Given the description of an element on the screen output the (x, y) to click on. 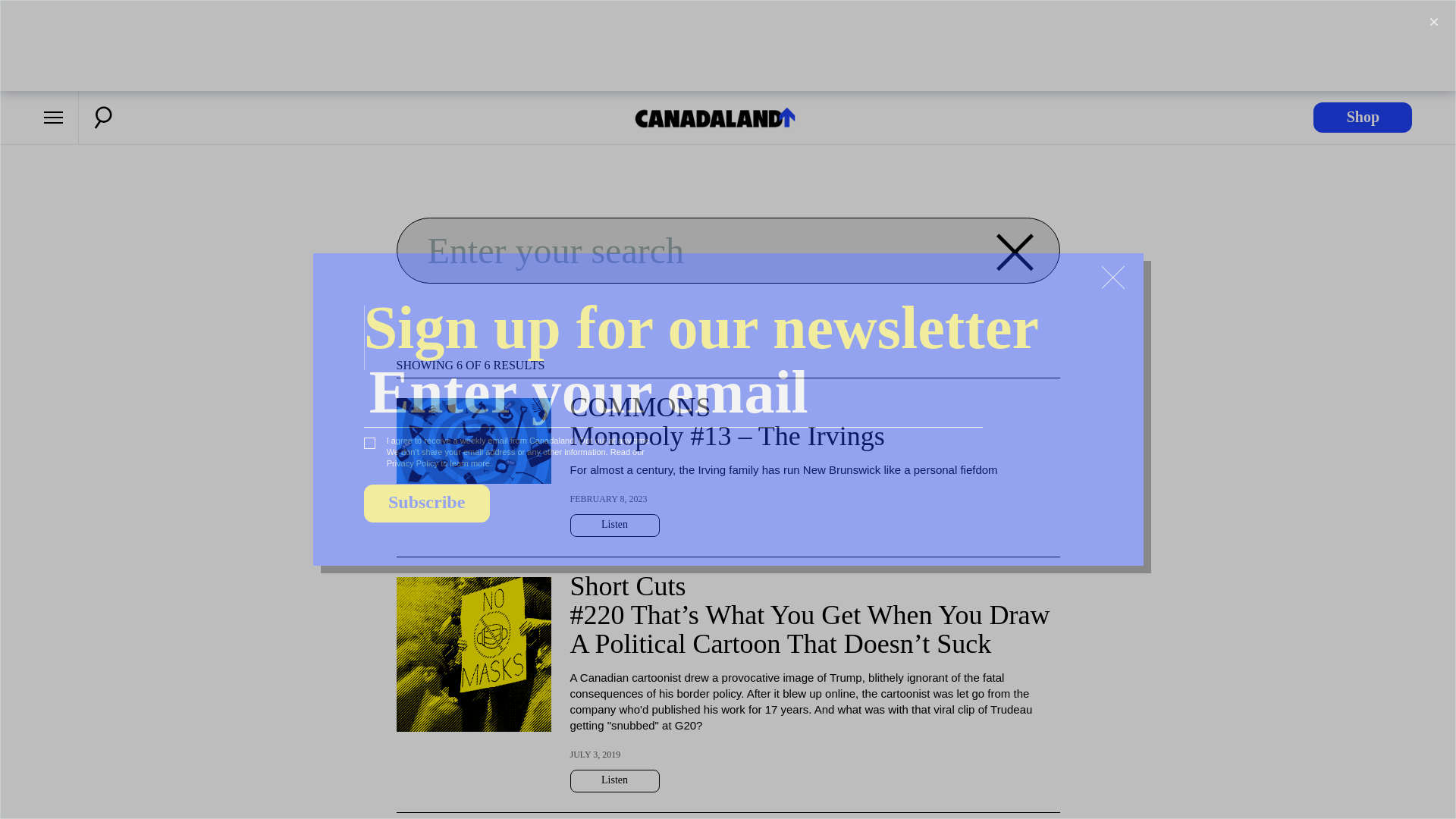
Toggle (1433, 21)
